Given the description of an element on the screen output the (x, y) to click on. 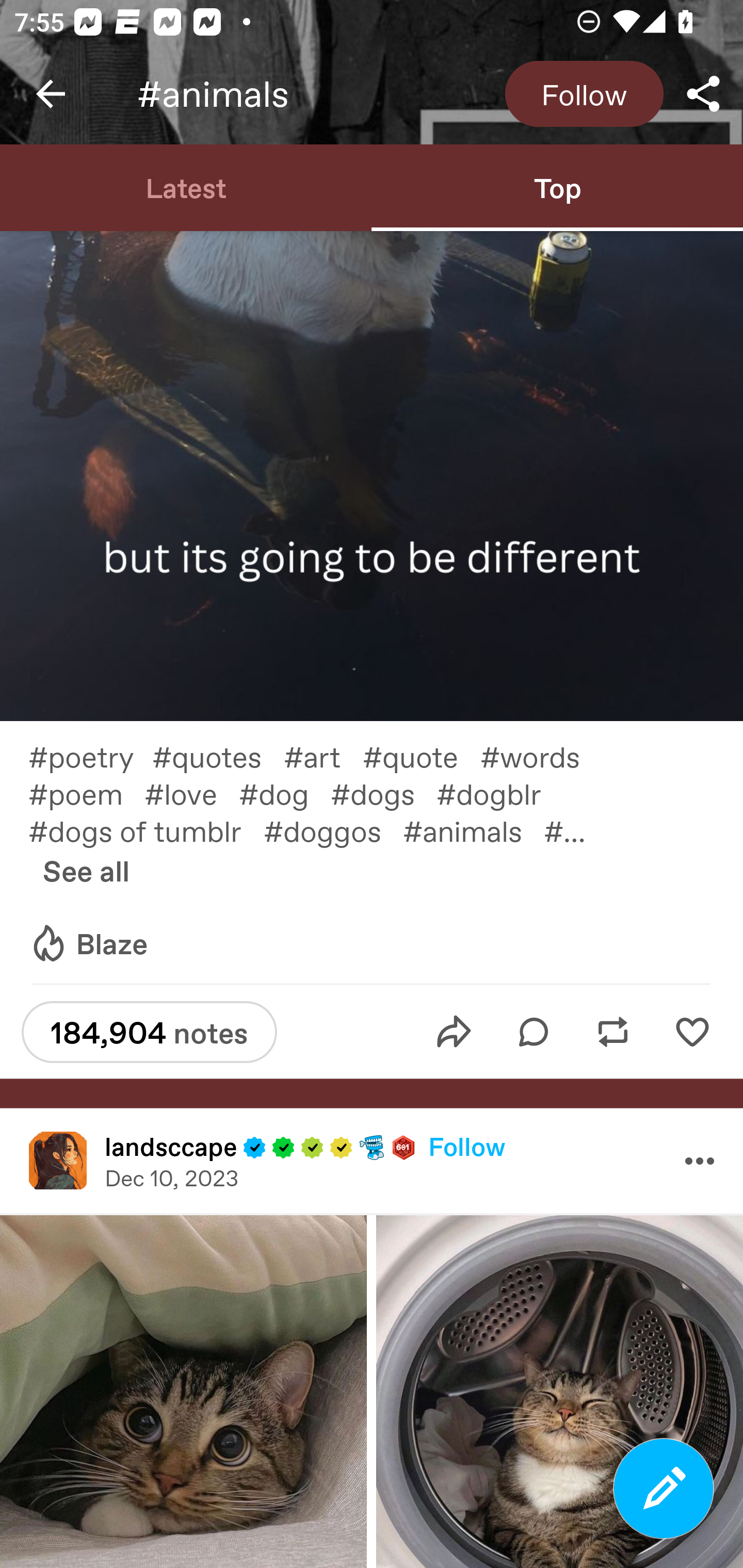
Navigate up (50, 93)
Follow (584, 94)
Latest (185, 187)
#poetry (90, 755)
#quotes (217, 755)
#art (322, 755)
#quote (421, 755)
#words (540, 755)
#poem (86, 793)
#love (191, 793)
#dog (284, 793)
#dogs (383, 793)
#dogblr (499, 793)
#dogs of tumblr (145, 830)
#doggos (332, 830)
#animals (472, 830)
#… (575, 830)
See all (86, 870)
Blaze Blaze Blaze (88, 943)
Share post to message (454, 1031)
Reply (533, 1031)
Reblog (612, 1031)
Like (691, 1031)
184,904 notes (149, 1031)
Follow (466, 1145)
Compose a new post (663, 1488)
